Given the description of an element on the screen output the (x, y) to click on. 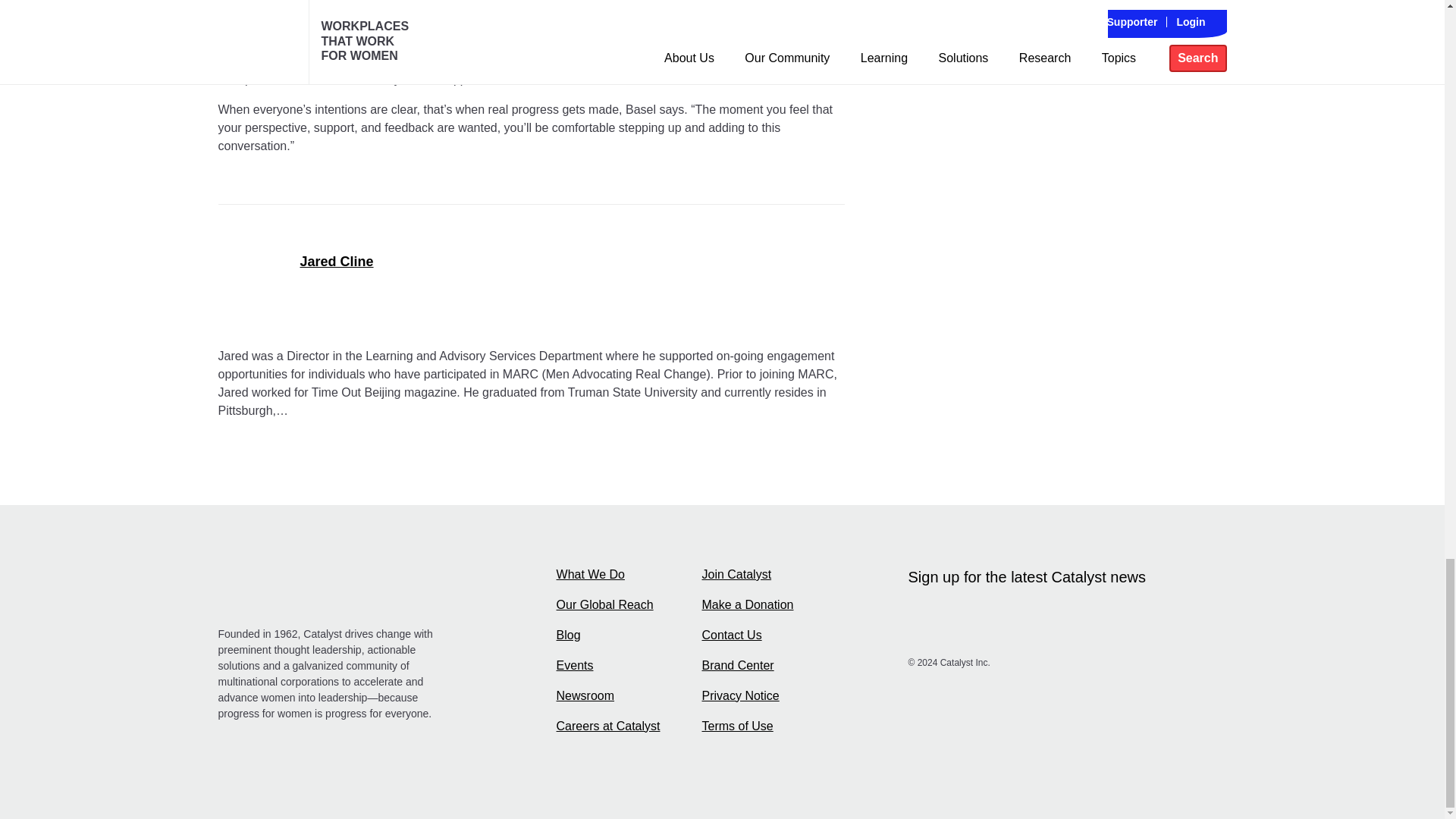
Home (330, 589)
